Given the description of an element on the screen output the (x, y) to click on. 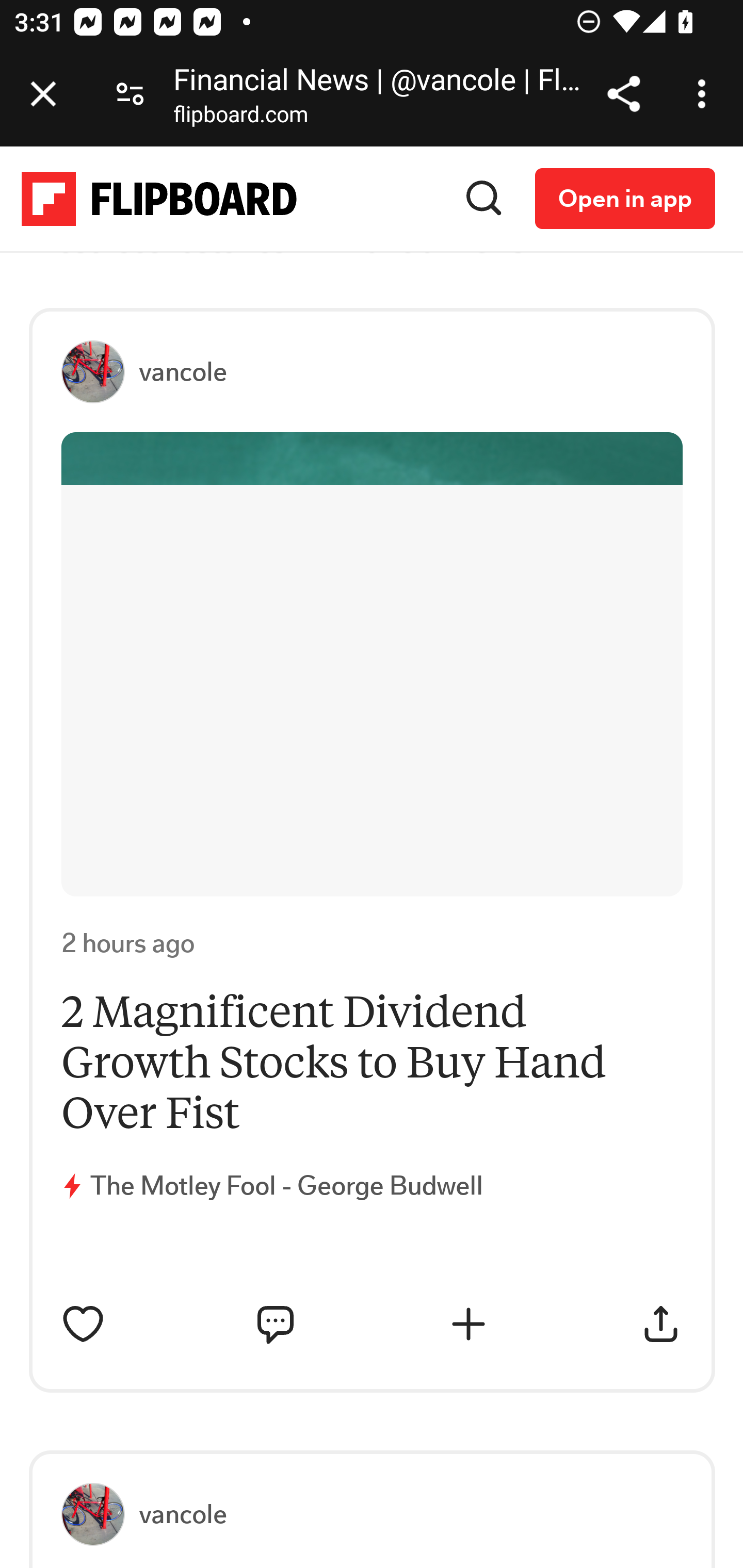
Close tab (43, 93)
Share link address (623, 93)
Customize and control Google Chrome (705, 93)
Connection is secure (129, 93)
flipboard.com (240, 117)
The Motley Fool - George Budwell (286, 1187)
Like (83, 1325)
comment (274, 1325)
Flip (468, 1325)
Share (661, 1325)
Avatar - vancole (101, 1516)
vancole (182, 1515)
